Given the description of an element on the screen output the (x, y) to click on. 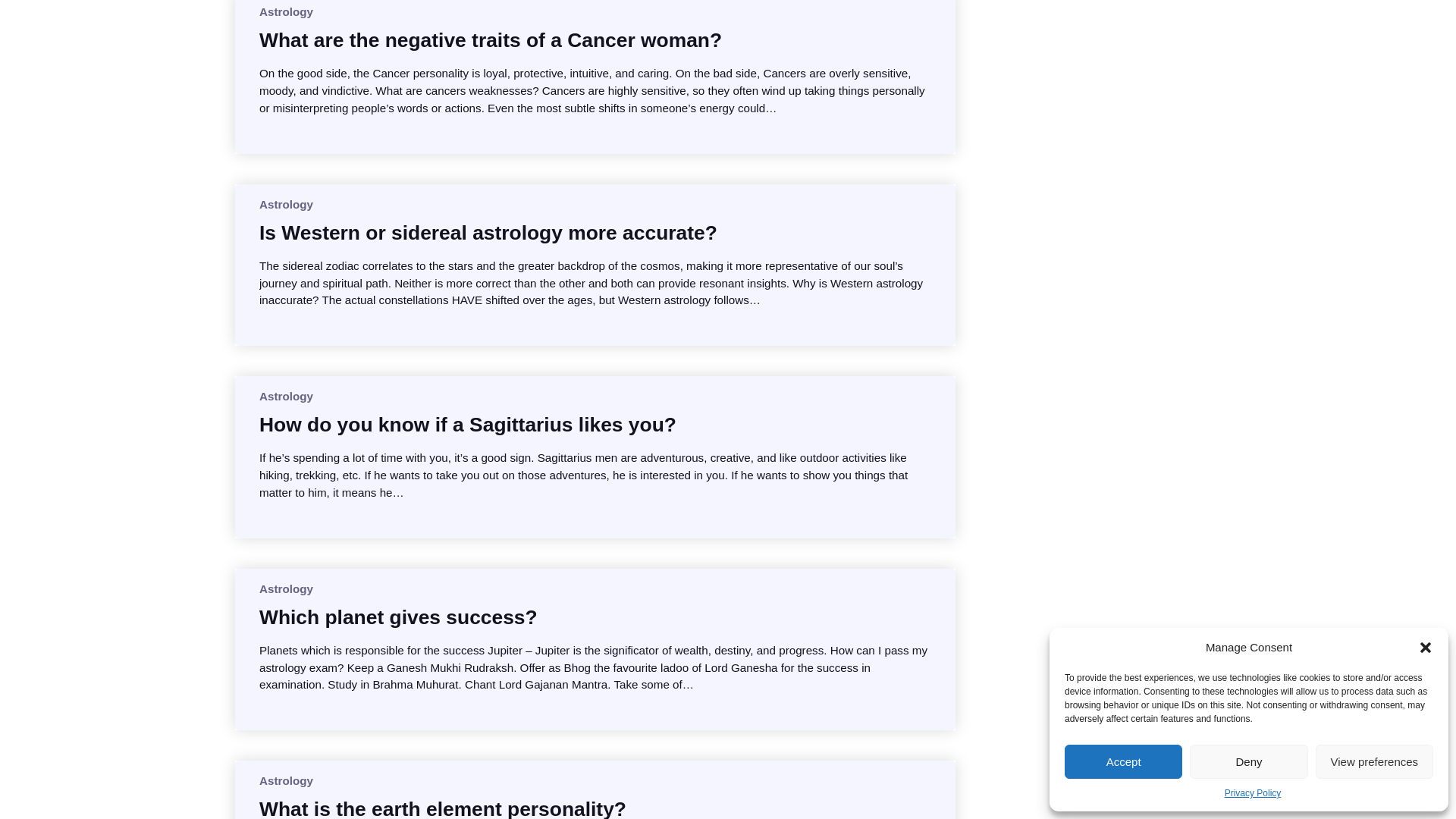
Astrology (286, 11)
What are the negative traits of a Cancer woman? (490, 40)
